Given the description of an element on the screen output the (x, y) to click on. 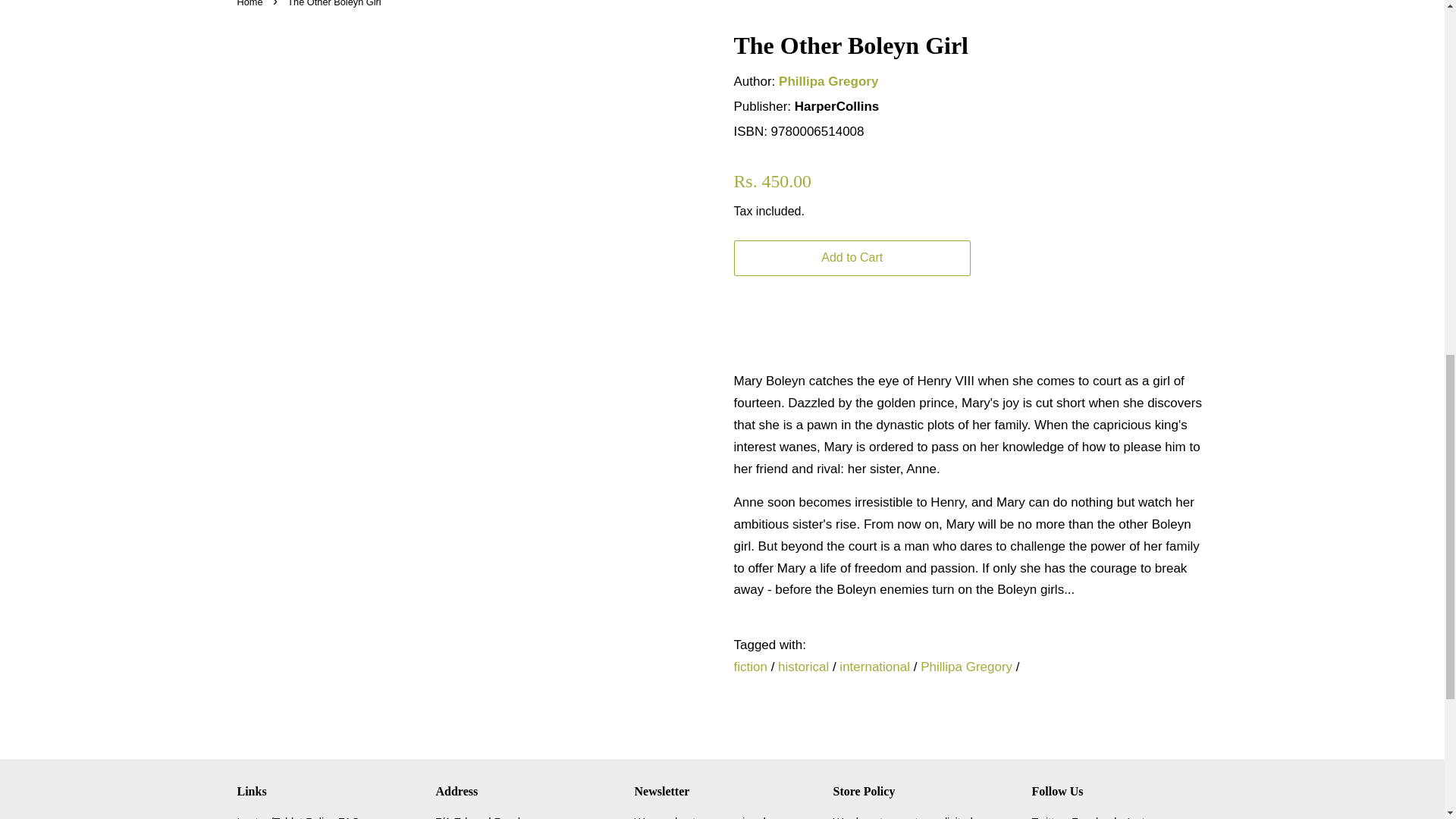
Champaca Bookstore, Library and Cafe on Twitter (1047, 817)
Back to the frontpage (250, 3)
Champaca Bookstore, Library and Cafe on Instagram (1150, 817)
Champaca Bookstore, Library and Cafe on Facebook (1095, 817)
